Given the description of an element on the screen output the (x, y) to click on. 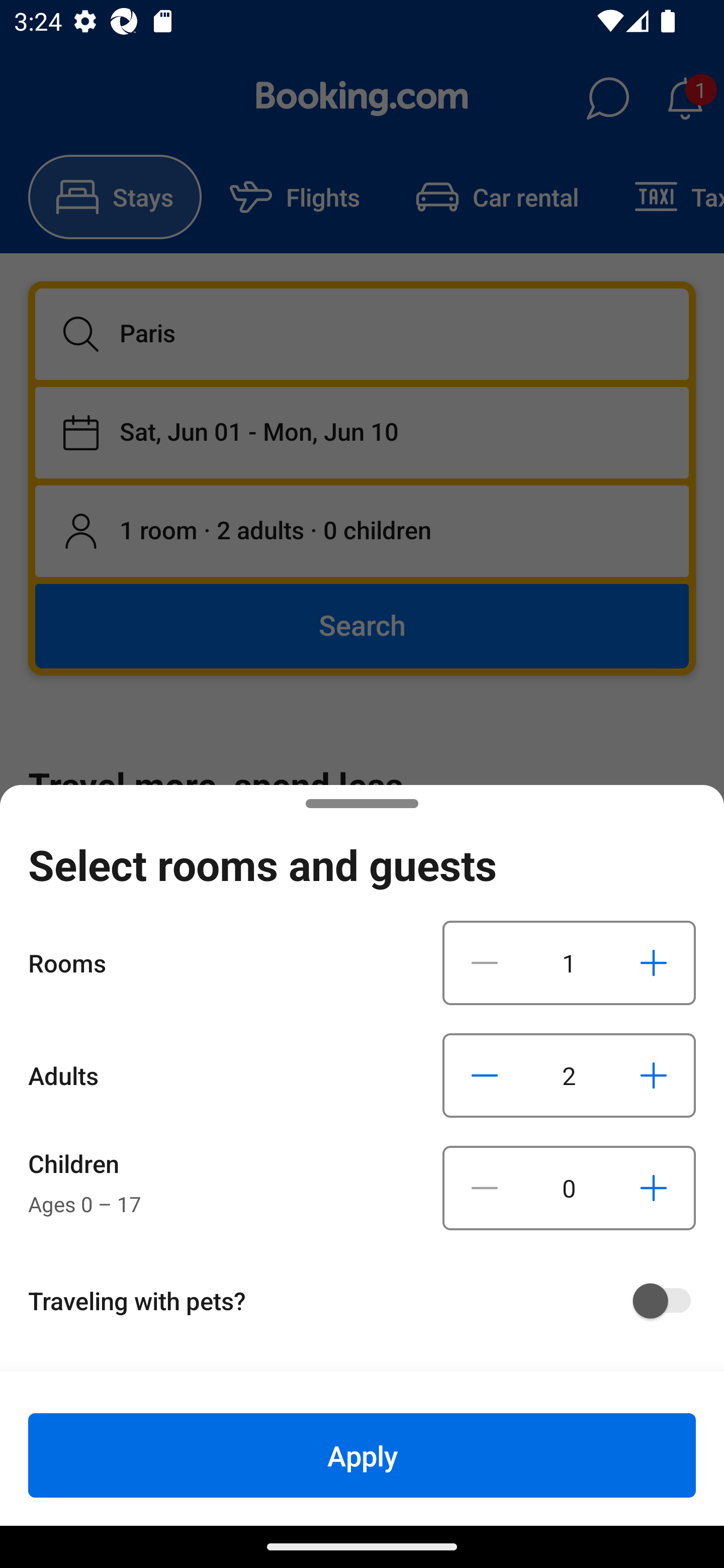
Decrease (484, 962)
Increase (653, 962)
Decrease (484, 1075)
Increase (653, 1075)
Decrease (484, 1188)
Increase (653, 1188)
Traveling with pets? (369, 1300)
Apply (361, 1454)
